Given the description of an element on the screen output the (x, y) to click on. 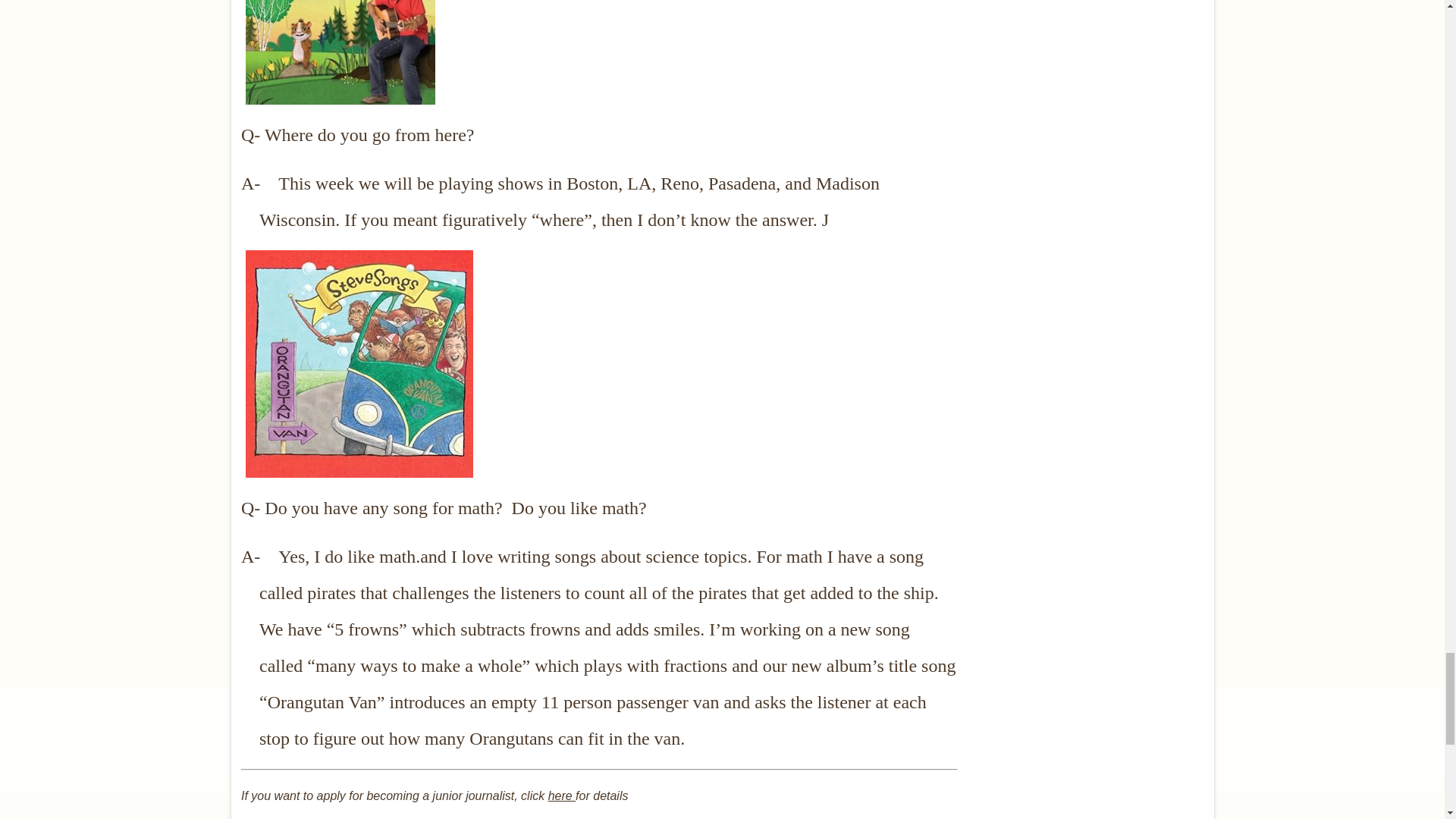
here  (561, 795)
